Given the description of an element on the screen output the (x, y) to click on. 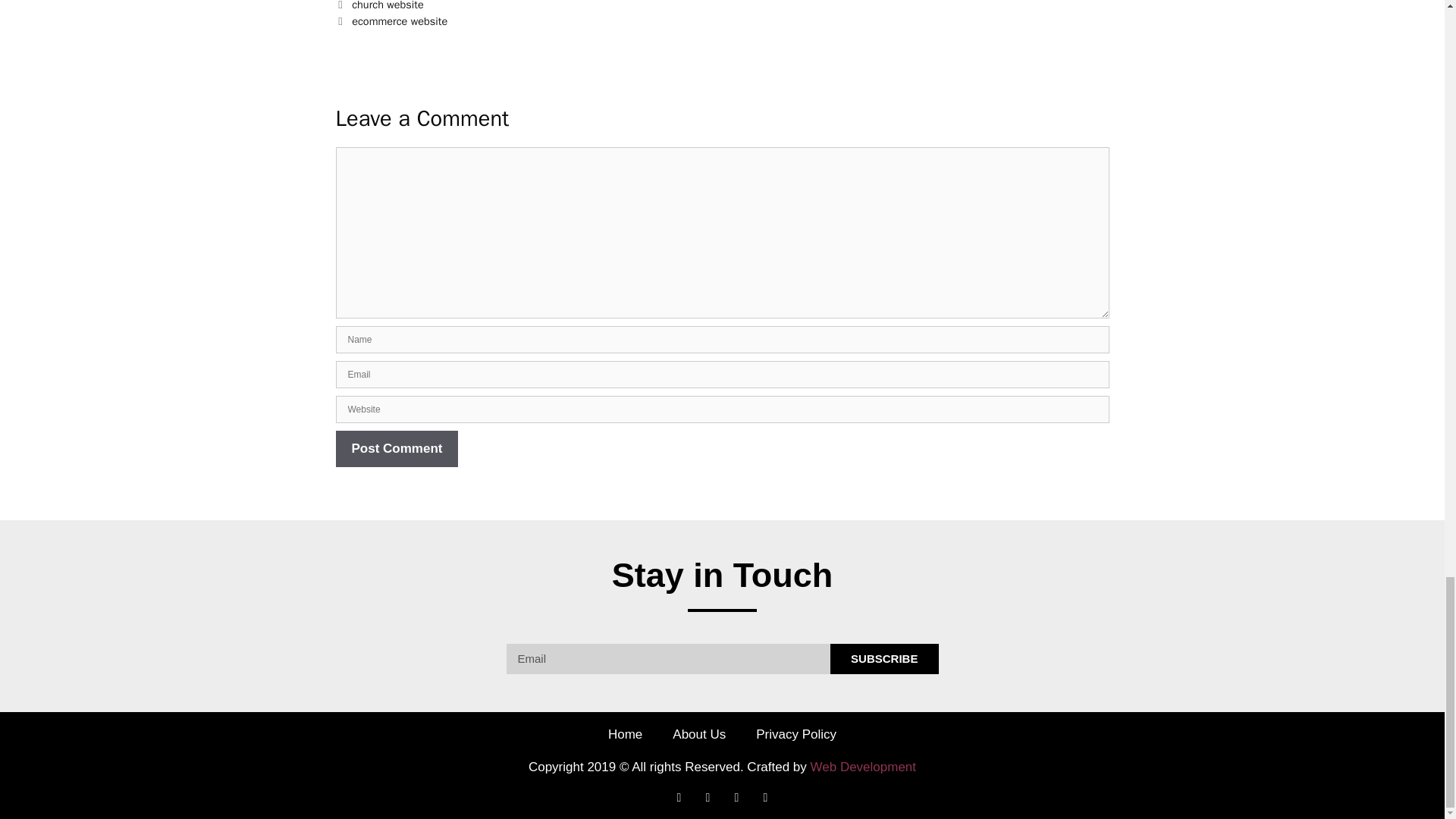
Previous (378, 5)
Next (390, 20)
Post Comment (396, 448)
